Given the description of an element on the screen output the (x, y) to click on. 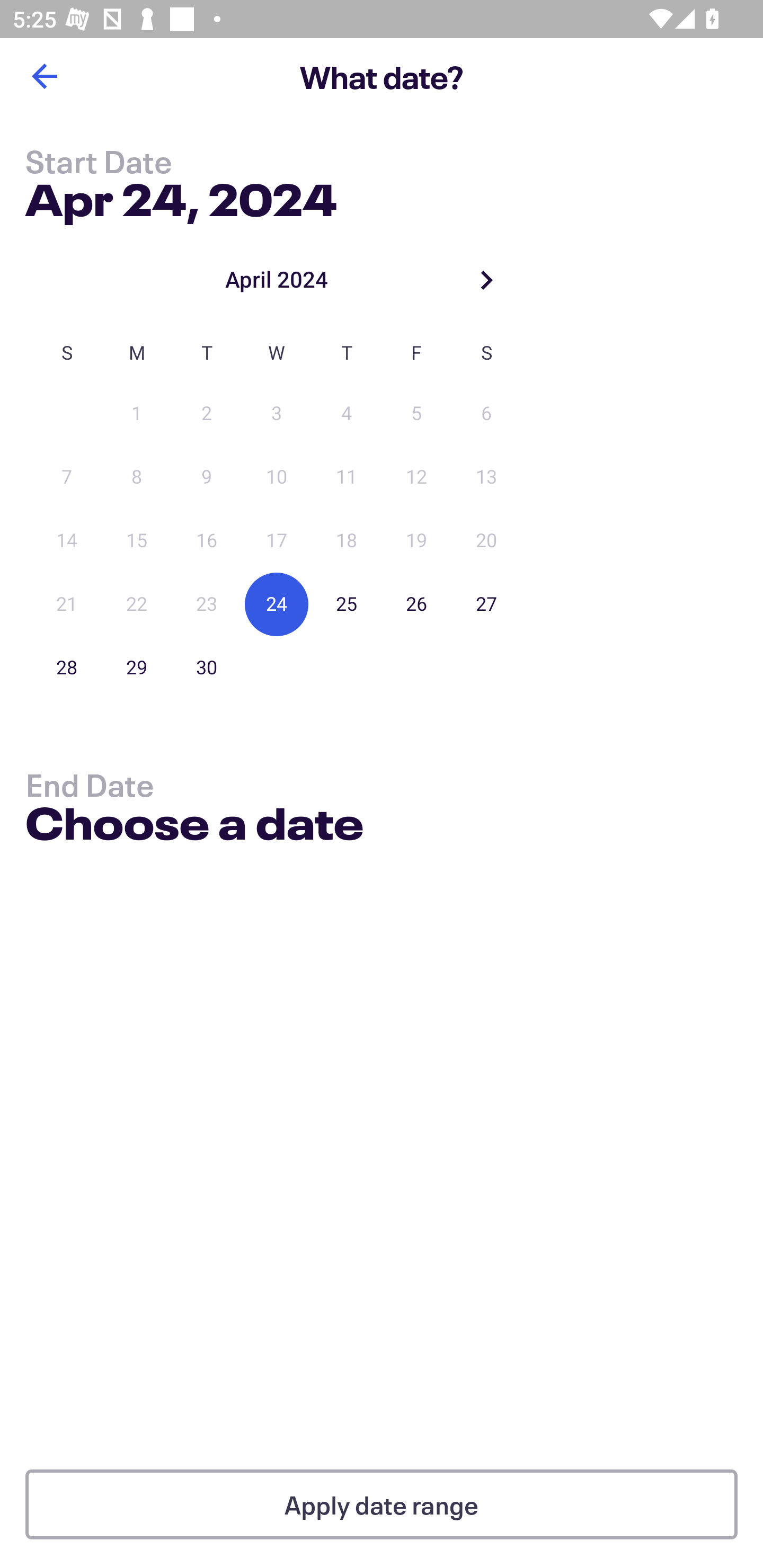
Back button (44, 75)
Apr 24, 2024 (181, 195)
Next month (486, 279)
1 01 April 2024 (136, 413)
2 02 April 2024 (206, 413)
3 03 April 2024 (276, 413)
4 04 April 2024 (346, 413)
5 05 April 2024 (416, 413)
6 06 April 2024 (486, 413)
7 07 April 2024 (66, 477)
8 08 April 2024 (136, 477)
9 09 April 2024 (206, 477)
10 10 April 2024 (276, 477)
11 11 April 2024 (346, 477)
12 12 April 2024 (416, 477)
13 13 April 2024 (486, 477)
14 14 April 2024 (66, 540)
15 15 April 2024 (136, 540)
16 16 April 2024 (206, 540)
17 17 April 2024 (276, 540)
18 18 April 2024 (346, 540)
19 19 April 2024 (416, 540)
20 20 April 2024 (486, 540)
21 21 April 2024 (66, 604)
22 22 April 2024 (136, 604)
23 23 April 2024 (206, 604)
24 24 April 2024 (276, 604)
25 25 April 2024 (346, 604)
26 26 April 2024 (416, 604)
27 27 April 2024 (486, 604)
28 28 April 2024 (66, 667)
29 29 April 2024 (136, 667)
30 30 April 2024 (206, 667)
Choose a date (194, 826)
Apply date range (381, 1504)
